Given the description of an element on the screen output the (x, y) to click on. 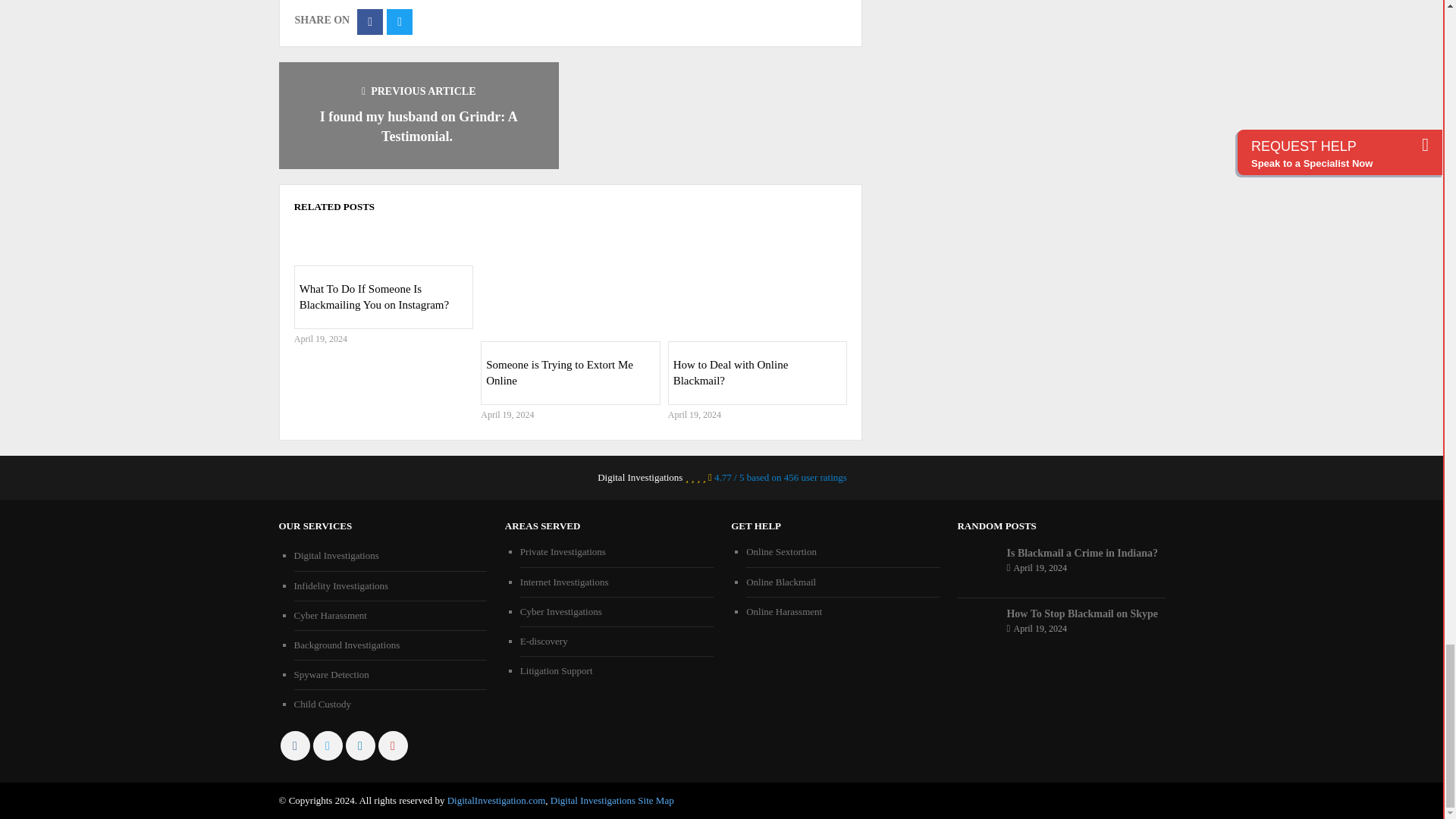
Share on Facebook (369, 22)
What To Do If Someone Is Blackmailing You on Instagram? (383, 243)
Share on Twitter (399, 22)
